Given the description of an element on the screen output the (x, y) to click on. 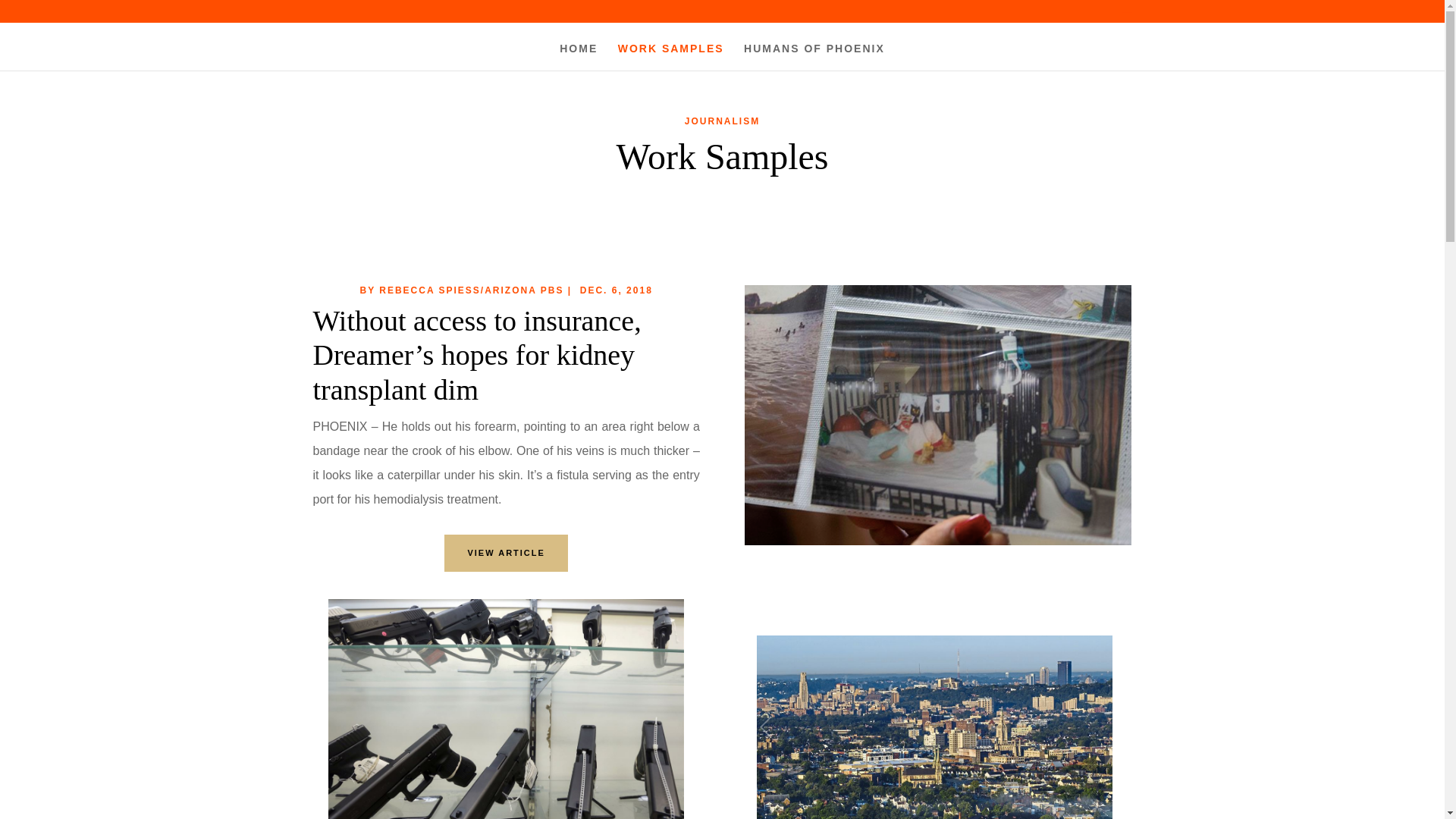
HUMANS OF PHOENIX (814, 56)
HOME (577, 56)
VIEW ARTICLE (505, 552)
WORK SAMPLES (670, 56)
Screen Shot 2022-09-05 at 3.01.38 PM (934, 727)
Kidney Transplant (937, 415)
Screen Shot 2022-09-05 at 3.09.38 PM (506, 708)
